Given the description of an element on the screen output the (x, y) to click on. 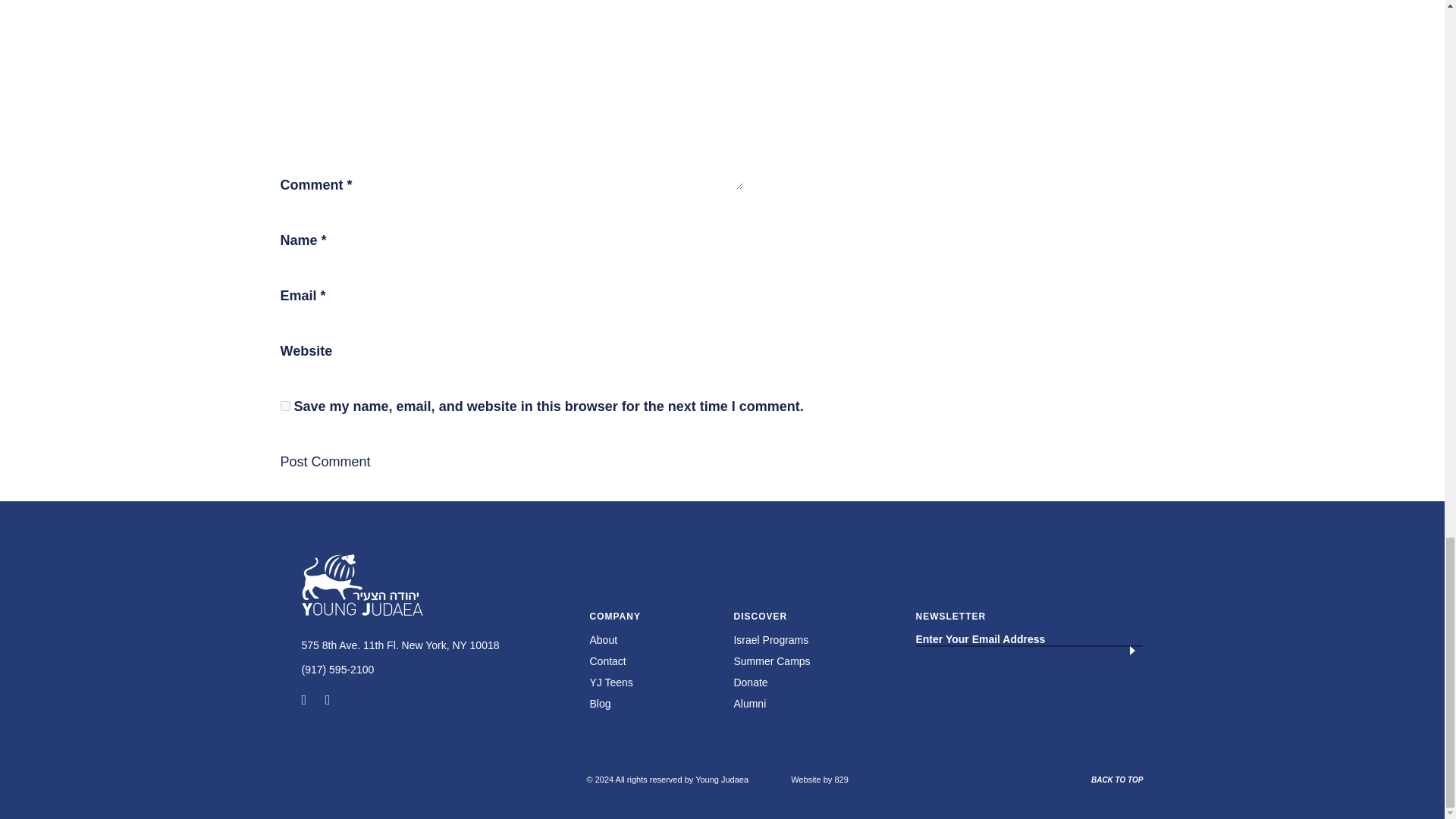
Website by 829 (819, 778)
yes (285, 406)
Post Comment (326, 461)
BACK TO TOP (1116, 779)
